Given the description of an element on the screen output the (x, y) to click on. 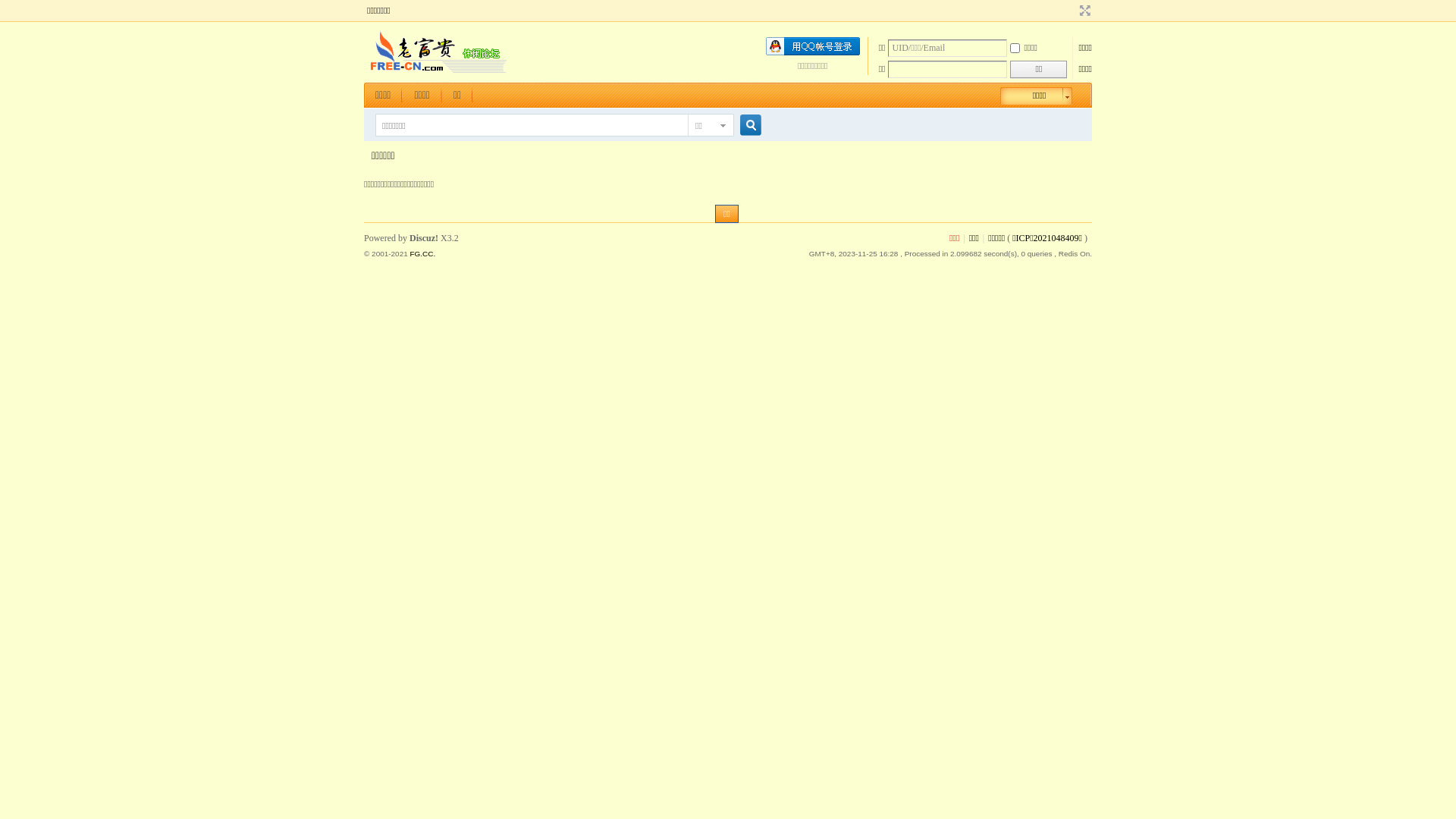
true Element type: text (745, 125)
FG.CC. Element type: text (422, 253)
